Given the description of an element on the screen output the (x, y) to click on. 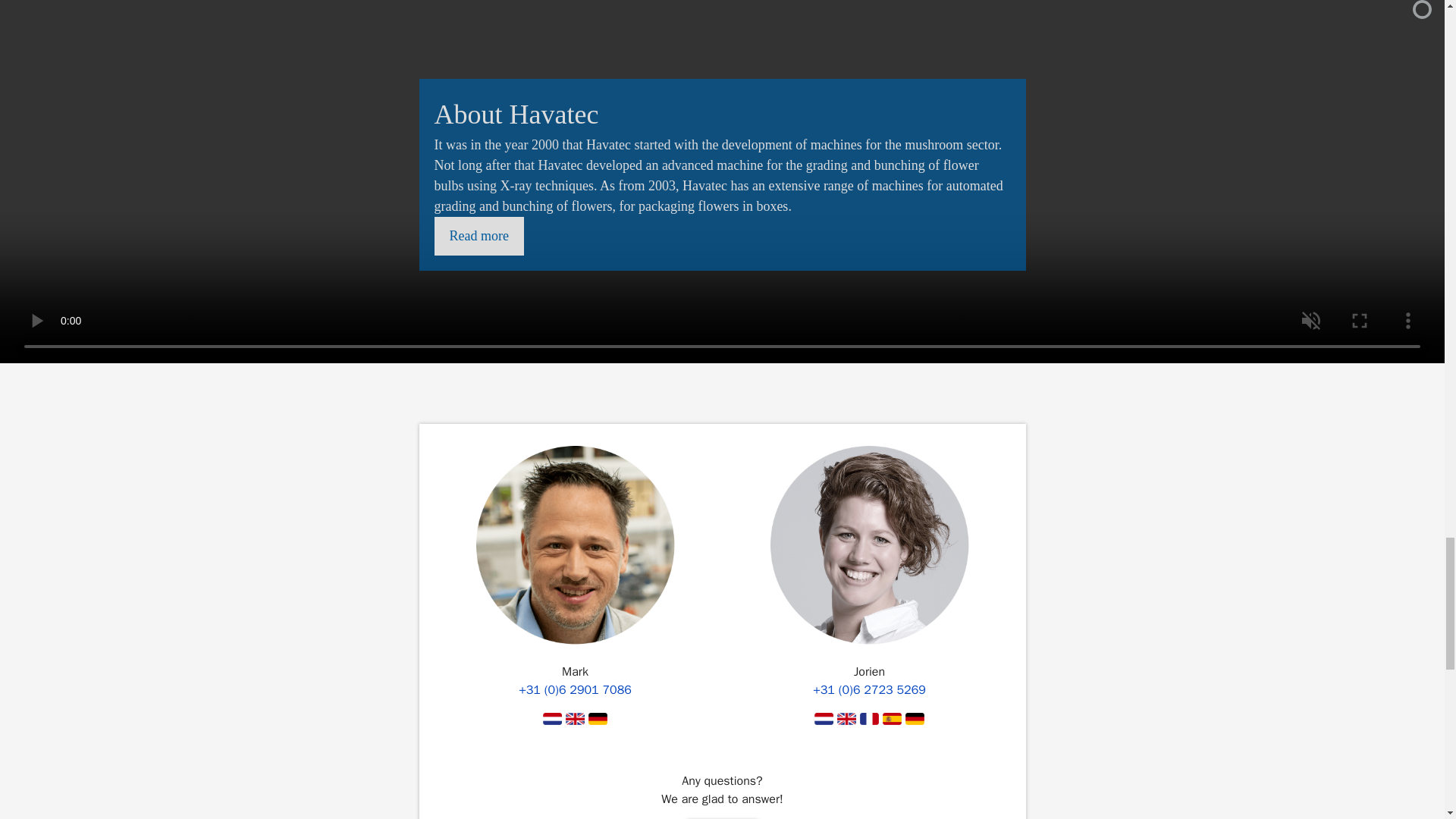
Read more (477, 236)
